Given the description of an element on the screen output the (x, y) to click on. 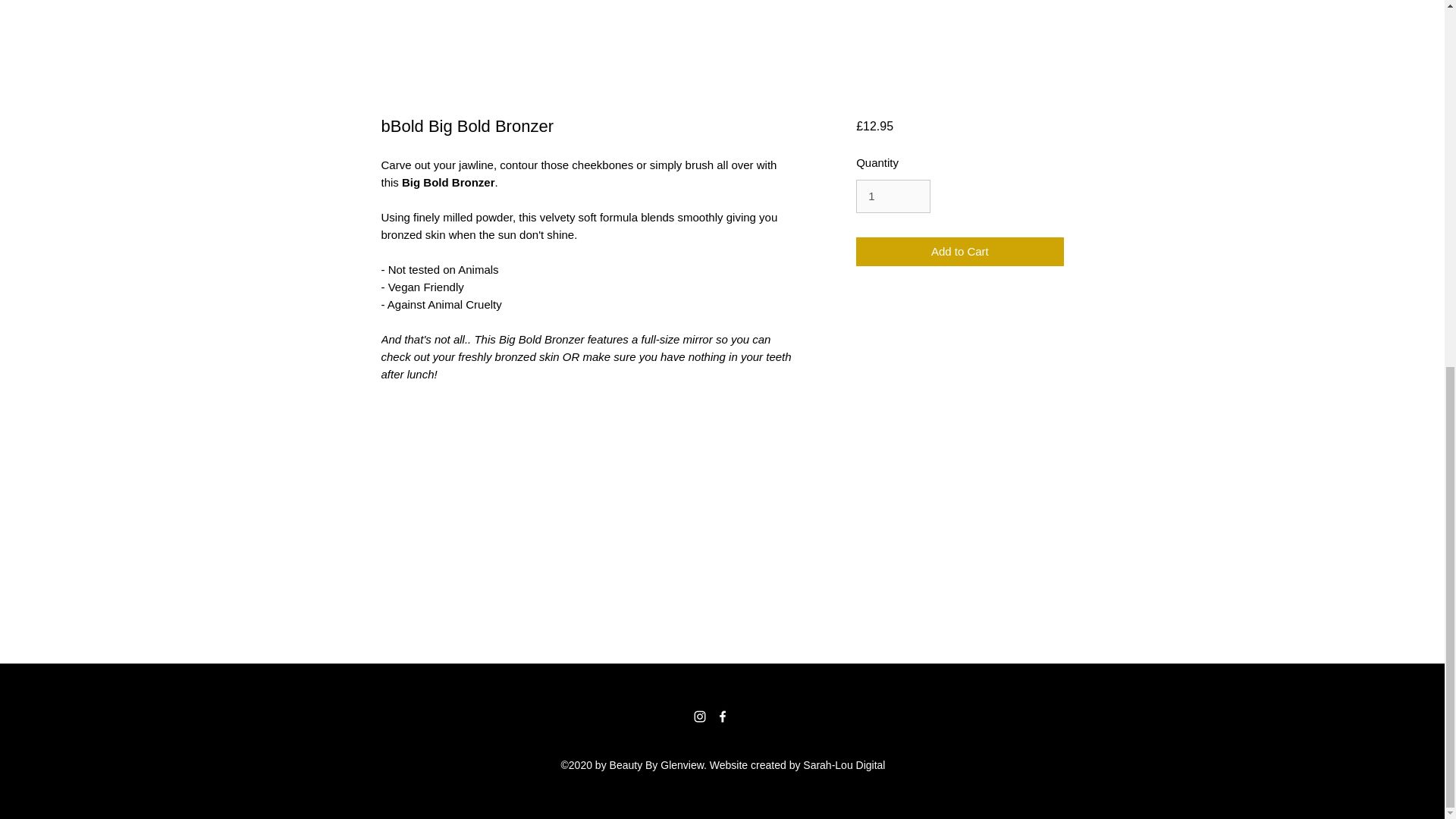
1 (893, 195)
